Given the description of an element on the screen output the (x, y) to click on. 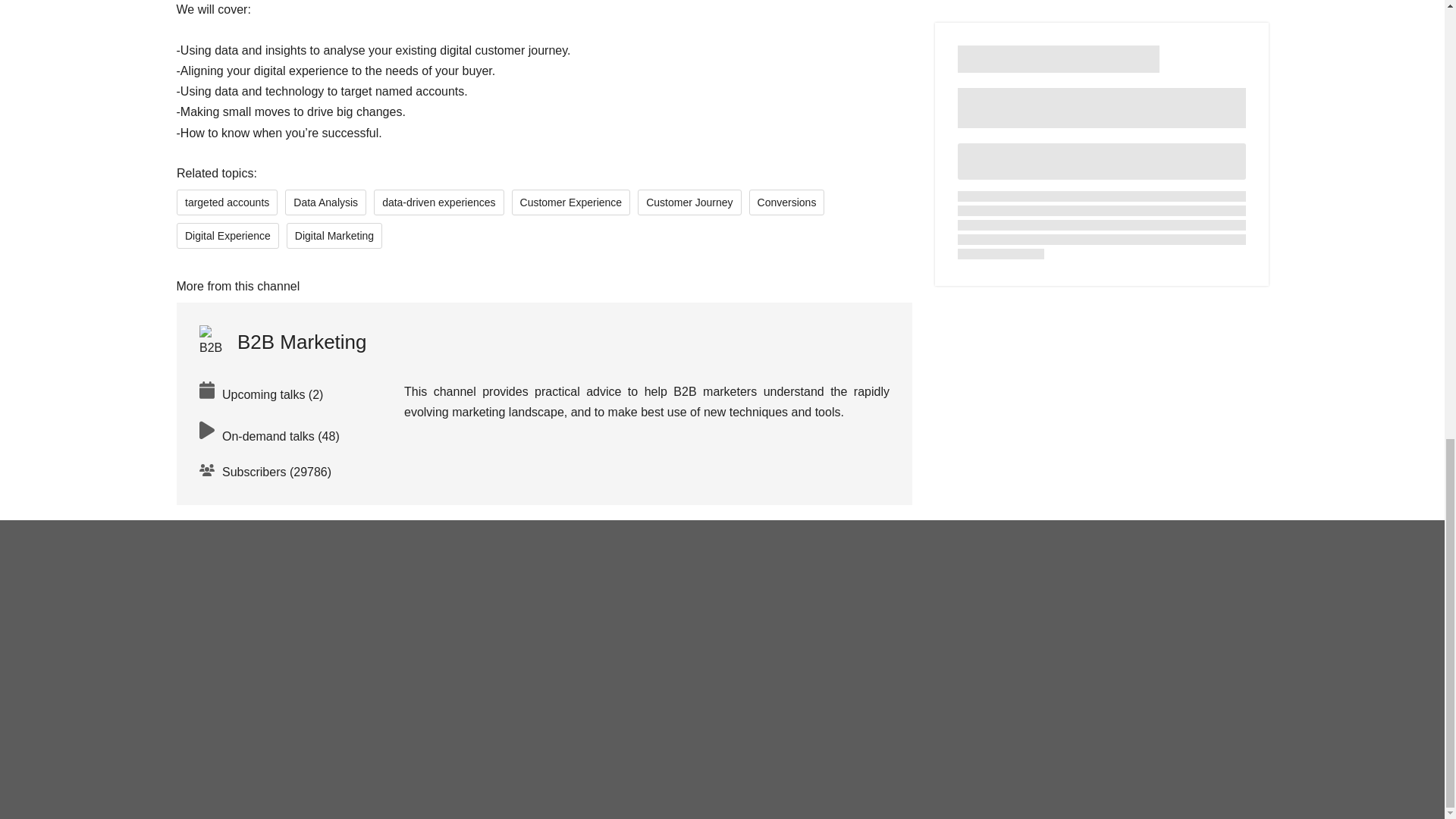
Visit B2B Marketing's channel (282, 341)
Customer Journey (689, 202)
B2B Marketing (282, 341)
targeted accounts (226, 202)
Conversions (786, 202)
Data Analysis (325, 202)
Customer Experience (570, 202)
Digital Experience (227, 235)
Digital Marketing (333, 235)
data-driven experiences (438, 202)
